Given the description of an element on the screen output the (x, y) to click on. 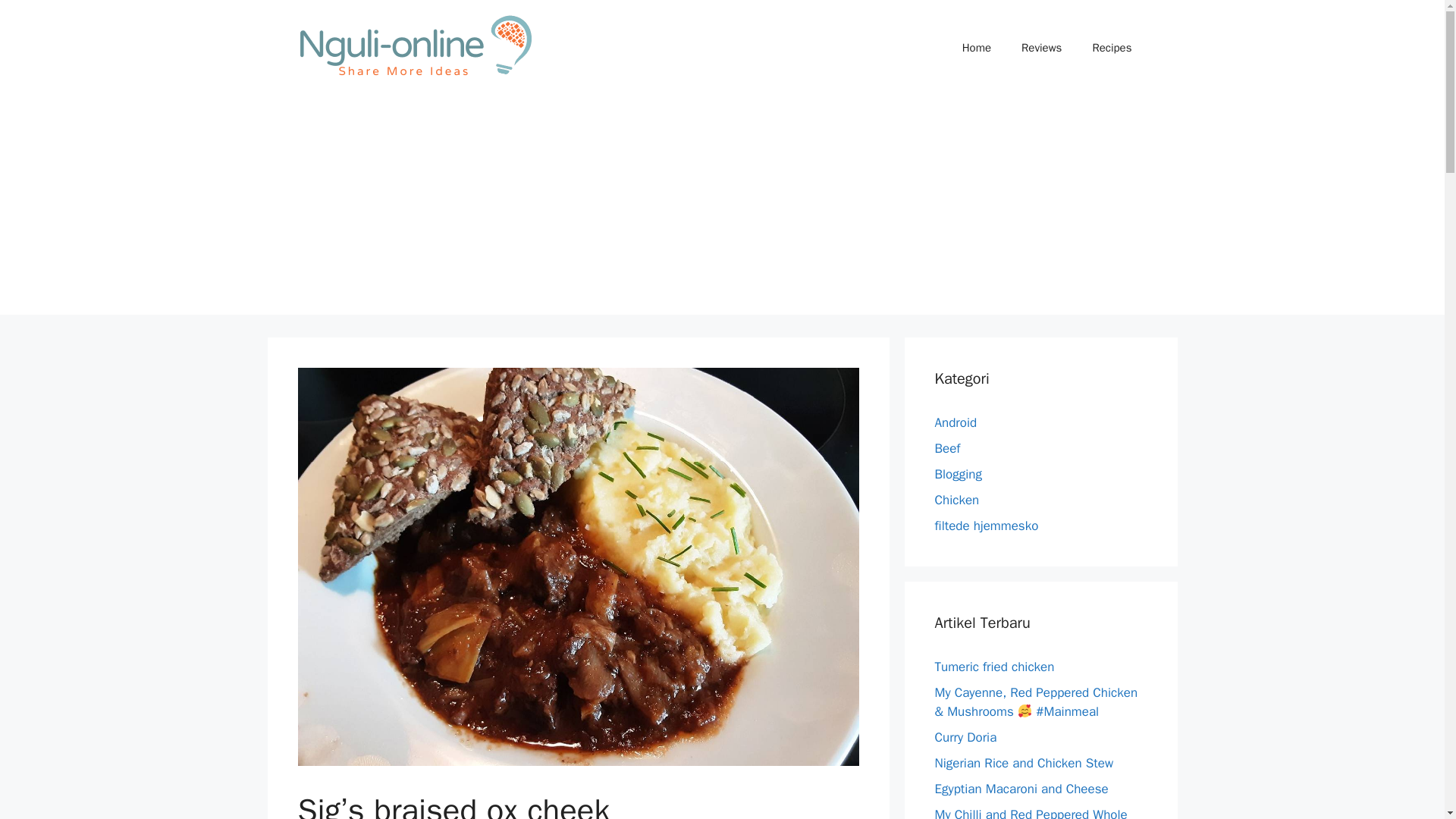
filtede hjemmesko (986, 525)
Nigerian Rice and Chicken Stew (1023, 763)
Chicken (956, 499)
Egyptian Macaroni and Cheese (1021, 788)
Beef (946, 448)
Home (976, 46)
Reviews (1041, 46)
Android (955, 422)
Blogging (957, 474)
